Given the description of an element on the screen output the (x, y) to click on. 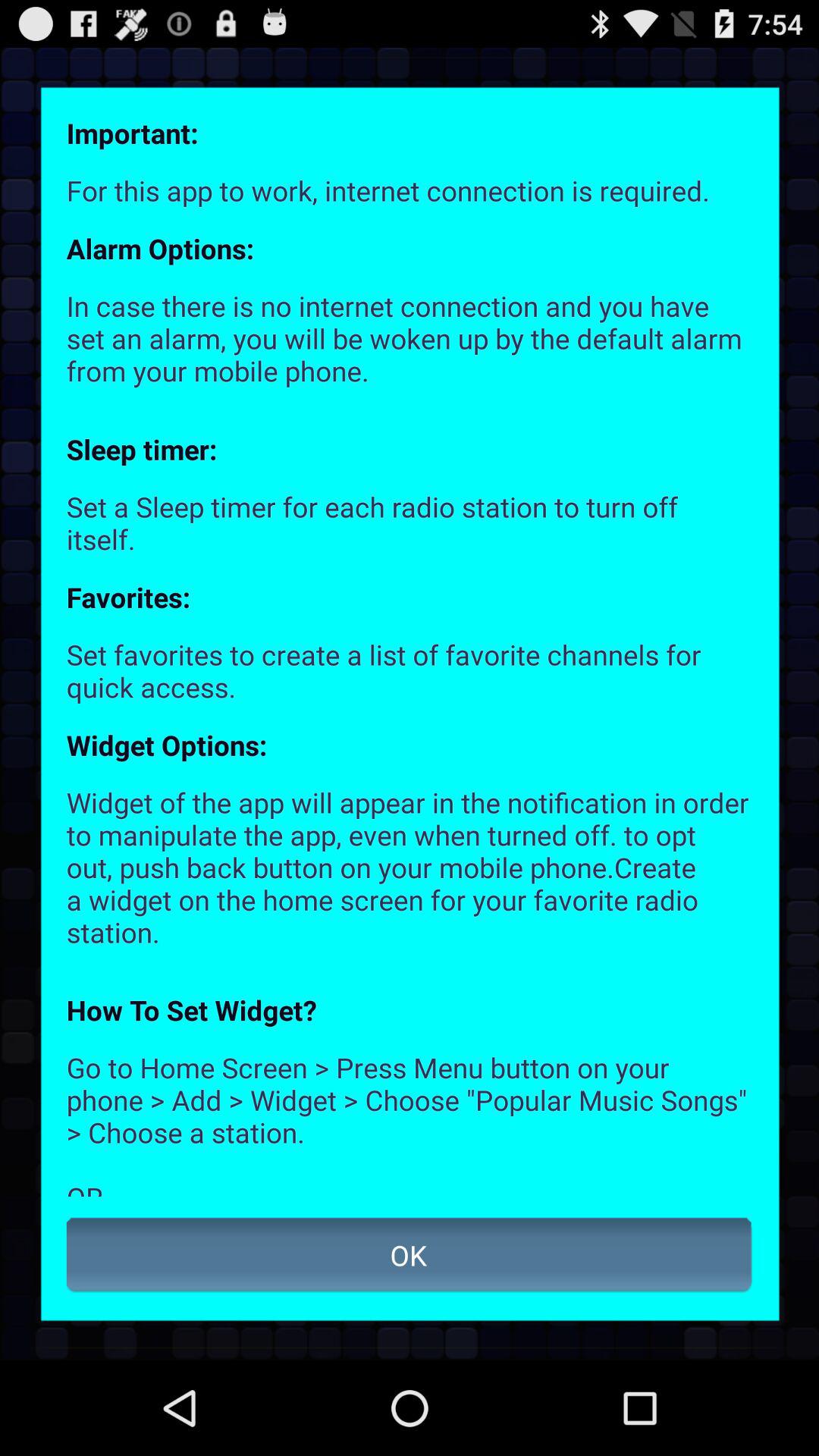
scroll until ok item (409, 1254)
